Given the description of an element on the screen output the (x, y) to click on. 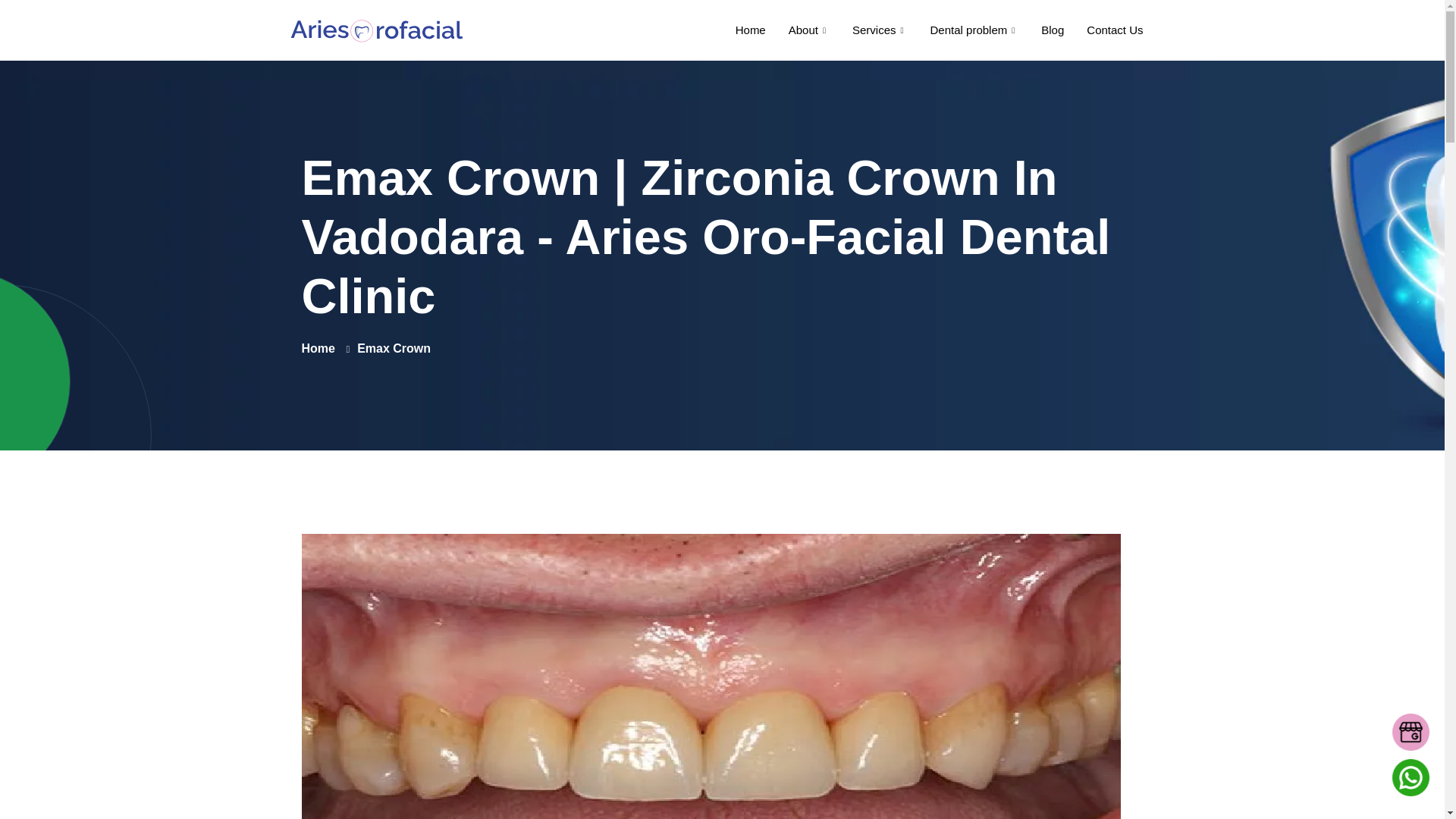
About (809, 30)
Services (879, 30)
